Given the description of an element on the screen output the (x, y) to click on. 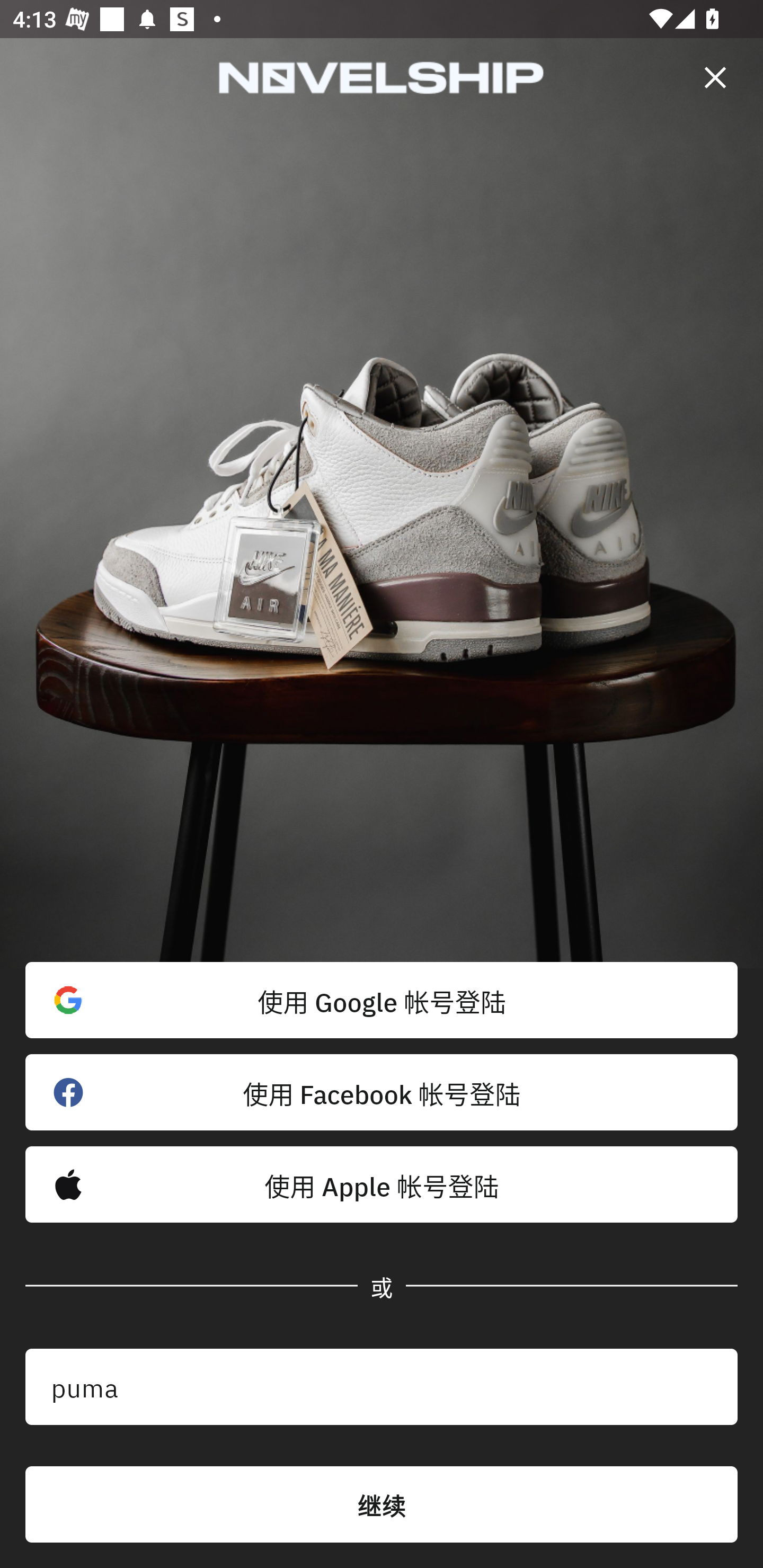
使用 Google 帐号登陆 (381, 1000)
使用 Facebook 帐号登陆 󰈌 (381, 1091)
 使用 Apple 帐号登陆 (381, 1184)
puma (381, 1386)
继续 (381, 1504)
